Given the description of an element on the screen output the (x, y) to click on. 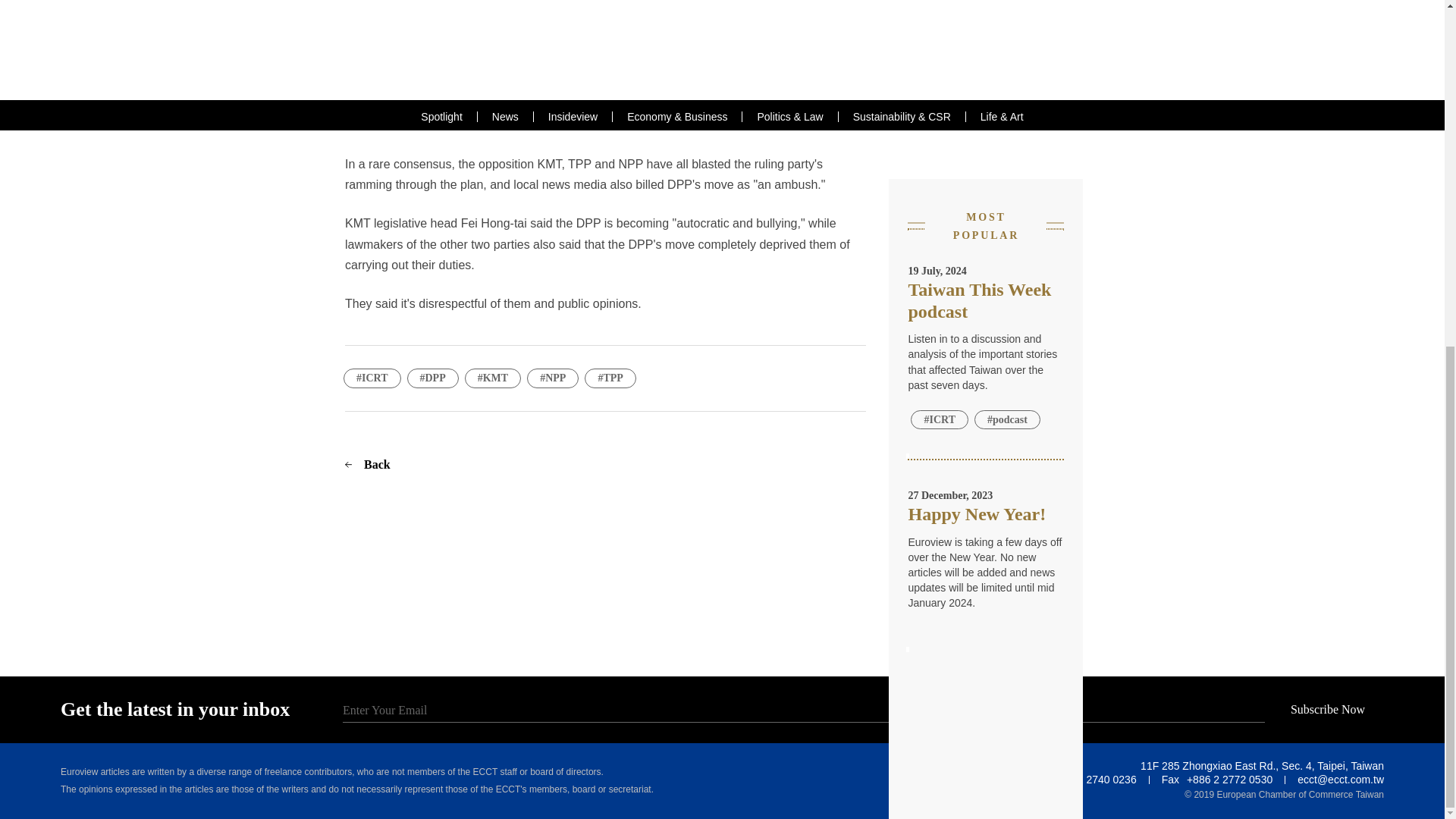
Back (373, 464)
Subscribe Now (1333, 709)
